Given the description of an element on the screen output the (x, y) to click on. 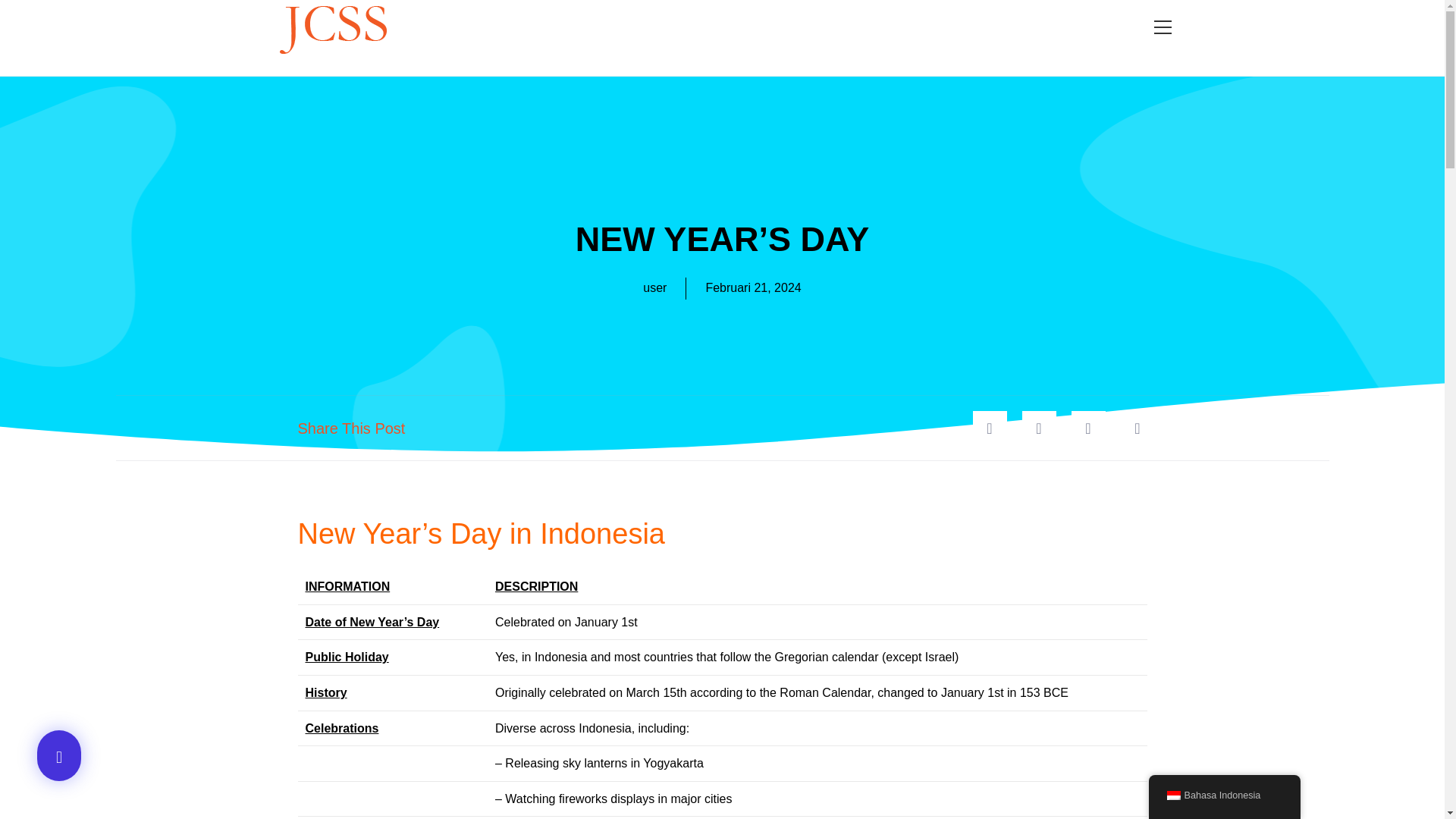
user (654, 288)
Bahasa Indonesia (1224, 795)
Bahasa Indonesia (1172, 795)
Februari 21, 2024 (752, 288)
